Given the description of an element on the screen output the (x, y) to click on. 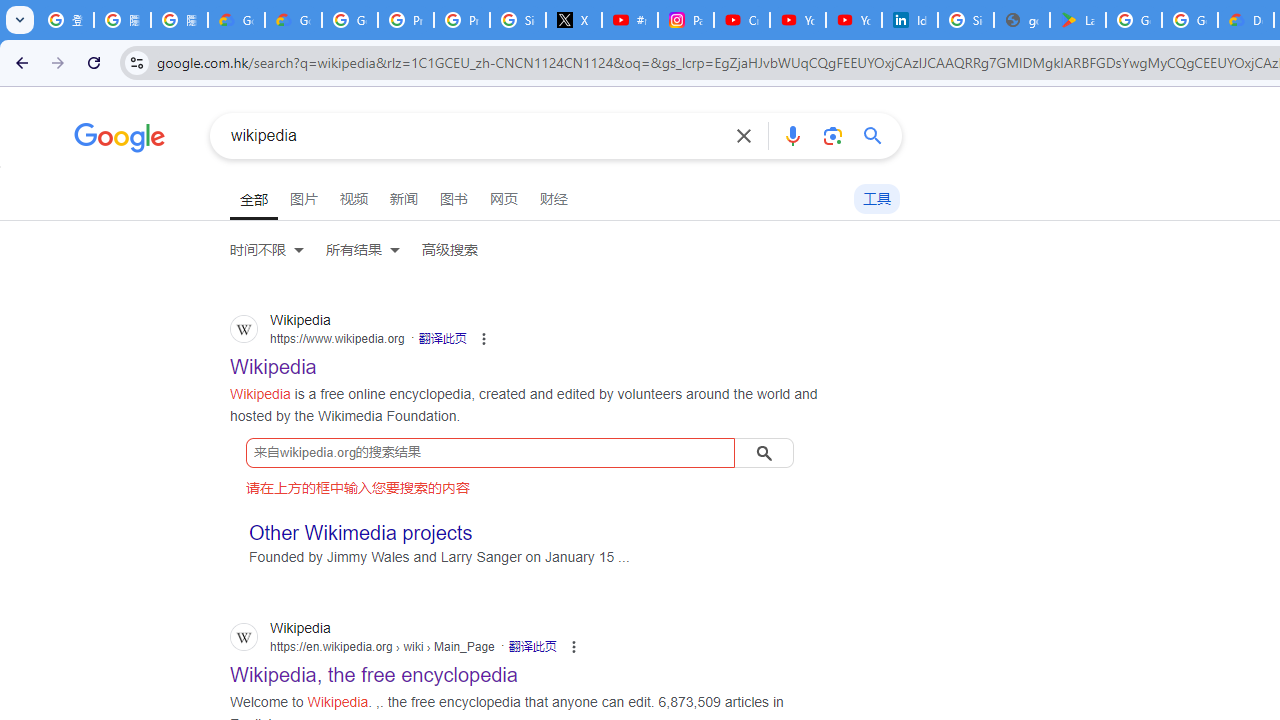
 Wikipedia Wikipedia https://www.wikipedia.org (273, 361)
YouTube Culture & Trends - YouTube Top 10, 2021 (853, 20)
Sign in - Google Accounts (966, 20)
